Given the description of an element on the screen output the (x, y) to click on. 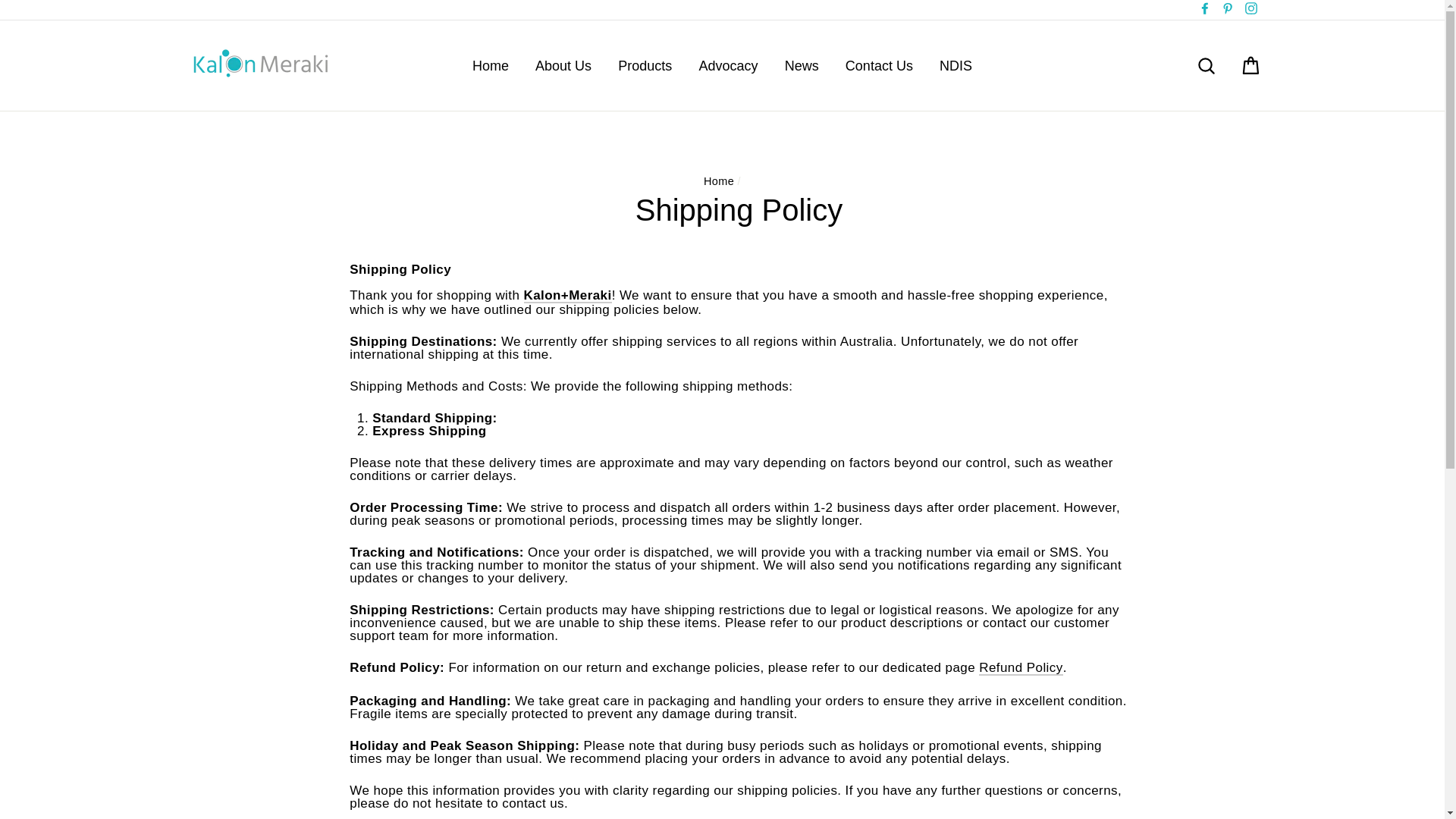
Kalon Meraki on Instagram (1250, 9)
Shipping Policy (567, 296)
Products (644, 65)
Refund Policy (1020, 667)
Kalon Meraki on Facebook (1204, 9)
Facebook (1204, 9)
Back to the frontpage (718, 181)
Pinterest (1227, 9)
Kalon Meraki on Pinterest (1227, 9)
Instagram (1250, 9)
Home (490, 65)
About Us (563, 65)
